Given the description of an element on the screen output the (x, y) to click on. 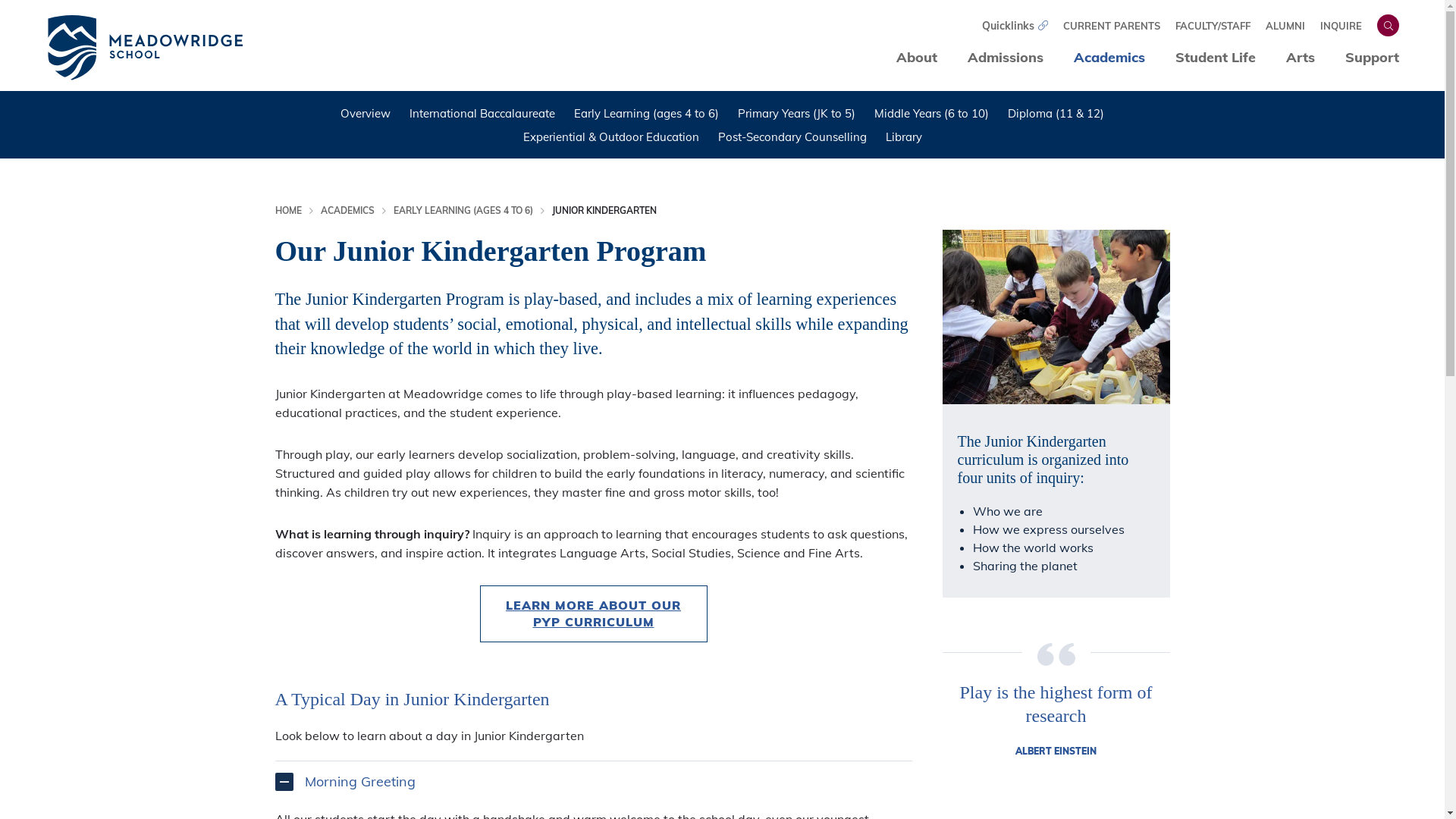
Primary Years (JK to 5) Element type: text (796, 113)
Early Learning (ages 4 to 6) Element type: text (646, 113)
INQUIRE
(OPENS IN NEW WINDOW/TAB) Element type: text (1340, 25)
Experiential & Outdoor Education Element type: text (611, 136)
Overview Element type: text (365, 113)
Open Search Element type: text (1388, 25)
Library Element type: text (903, 136)
International Baccalaureate Element type: text (482, 113)
Admissions Element type: text (1005, 56)
Academics Element type: text (1109, 56)
CURRENT PARENTS Element type: text (1111, 25)
ALUMNI Element type: text (1285, 25)
FACULTY/STAFF Element type: text (1212, 25)
EARLY LEARNING (AGES 4 TO 6) Element type: text (462, 210)
Diploma (11 & 12) Element type: text (1055, 113)
Post-Secondary Counselling Element type: text (791, 136)
ACADEMICS Element type: text (346, 210)
Middle Years (6 to 10) Element type: text (931, 113)
About Element type: text (916, 56)
Morning Greeting Element type: text (359, 781)
Arts Element type: text (1300, 56)
LEARN MORE ABOUT OUR PYP CURRICULUM Element type: text (592, 613)
HOME Element type: text (287, 210)
Support Element type: text (1372, 56)
Student Life Element type: text (1215, 56)
Quicklinks Element type: text (1015, 24)
